Given the description of an element on the screen output the (x, y) to click on. 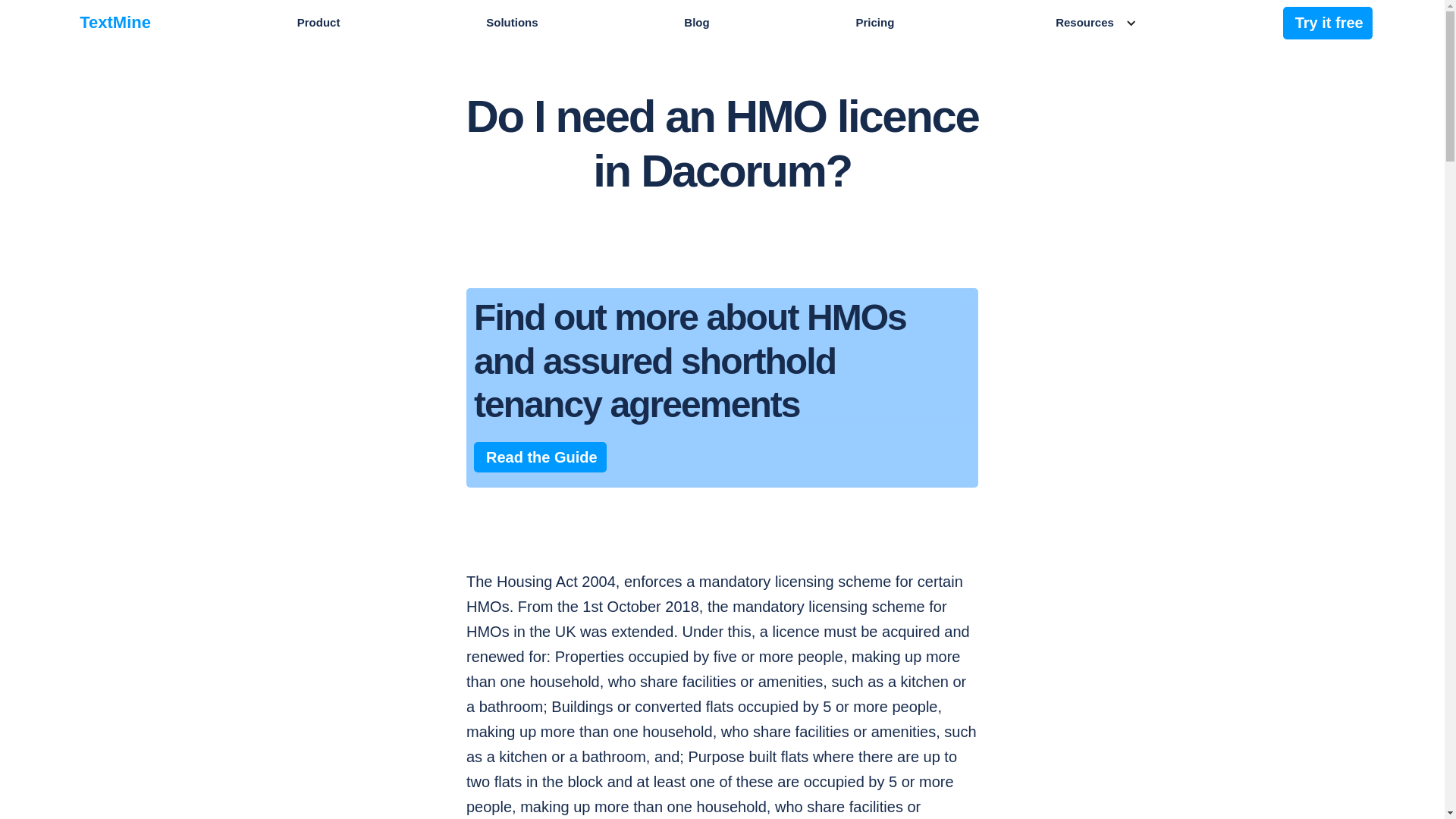
TextMine (114, 22)
Read the Guide (540, 457)
Solutions (511, 22)
Product (318, 22)
Pricing (874, 22)
Try it free (1327, 21)
Blog (696, 22)
